Given the description of an element on the screen output the (x, y) to click on. 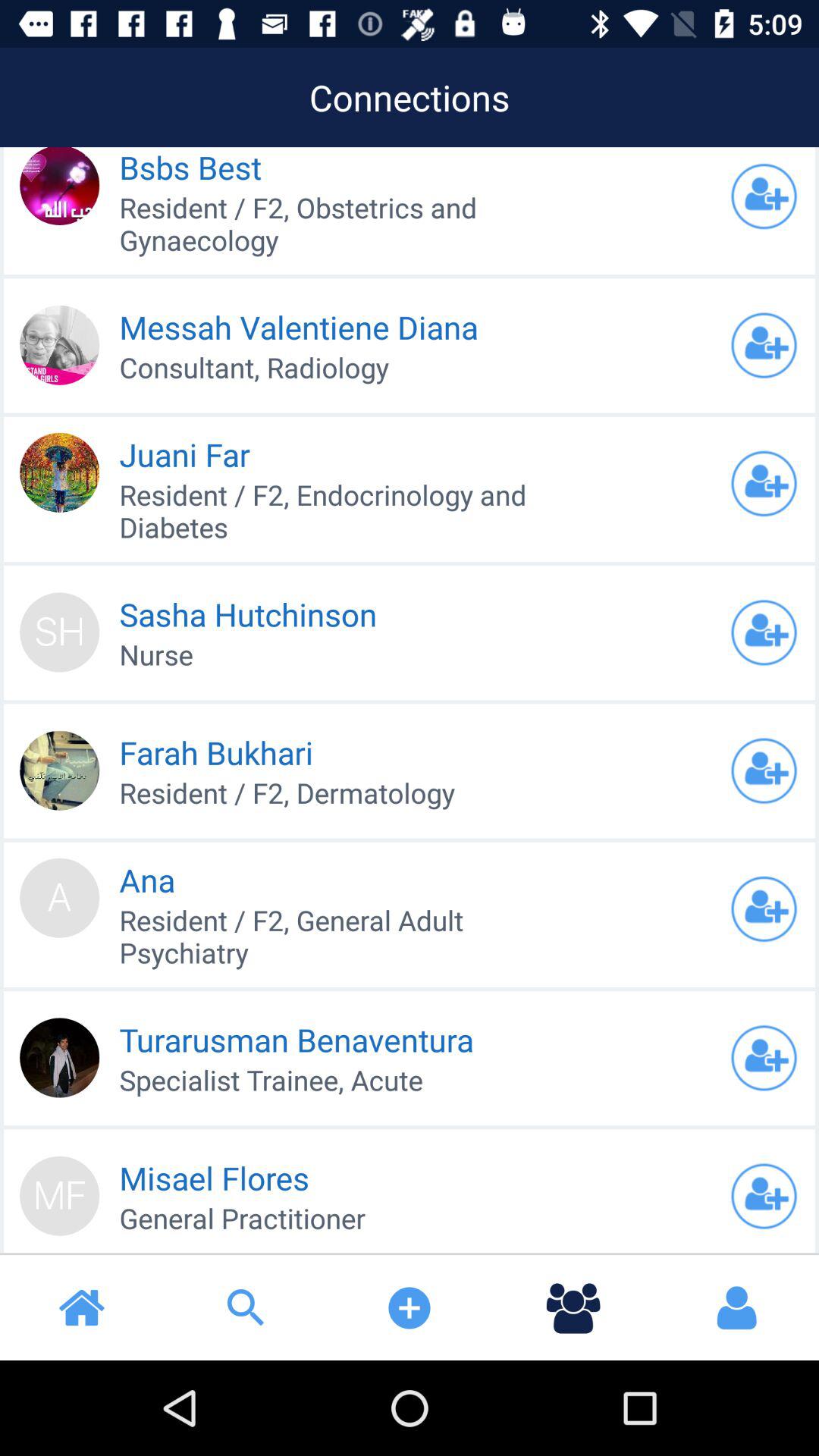
add friend symbol (764, 345)
